Given the description of an element on the screen output the (x, y) to click on. 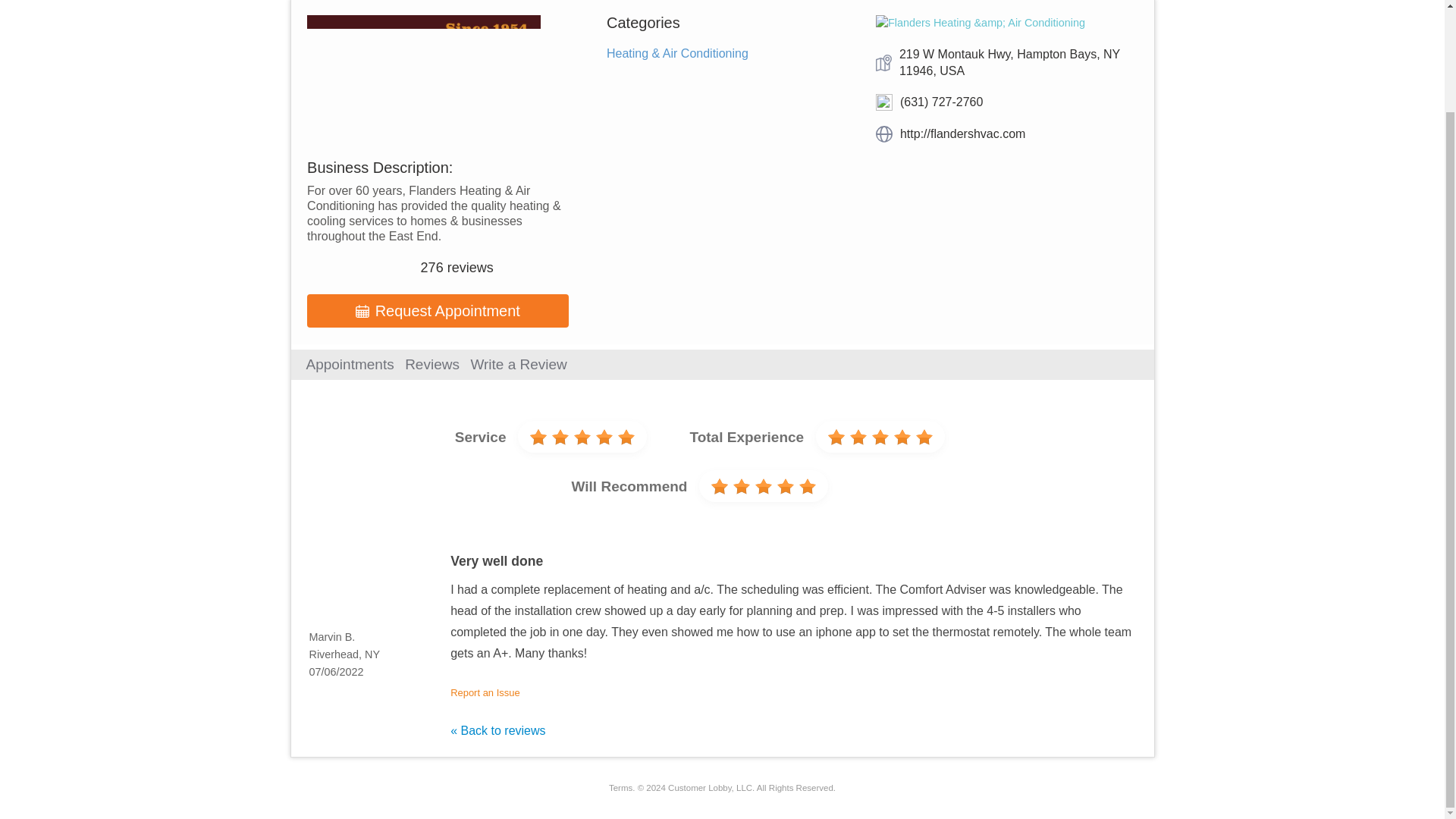
Write a Review (518, 364)
Reviews (432, 364)
Report an Issue (484, 692)
Appointments (349, 364)
276 reviews (456, 267)
Request Appointment (438, 310)
